Given the description of an element on the screen output the (x, y) to click on. 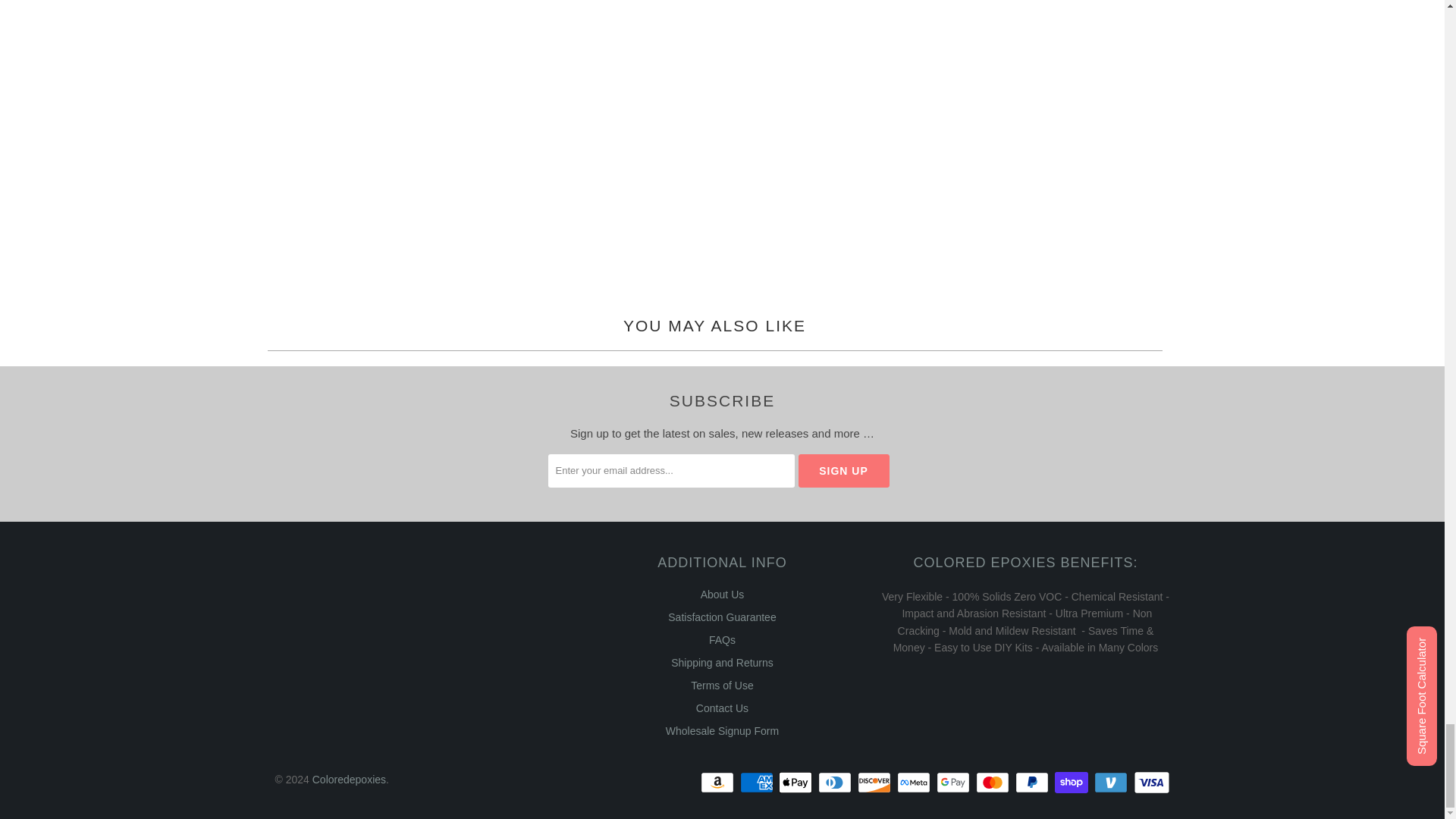
Sign Up (842, 470)
PayPal (1032, 782)
Discover (875, 782)
Meta Pay (914, 782)
Venmo (1112, 782)
Amazon (718, 782)
Visa (1150, 782)
American Express (757, 782)
Diners Club (836, 782)
Apple Pay (796, 782)
